Given the description of an element on the screen output the (x, y) to click on. 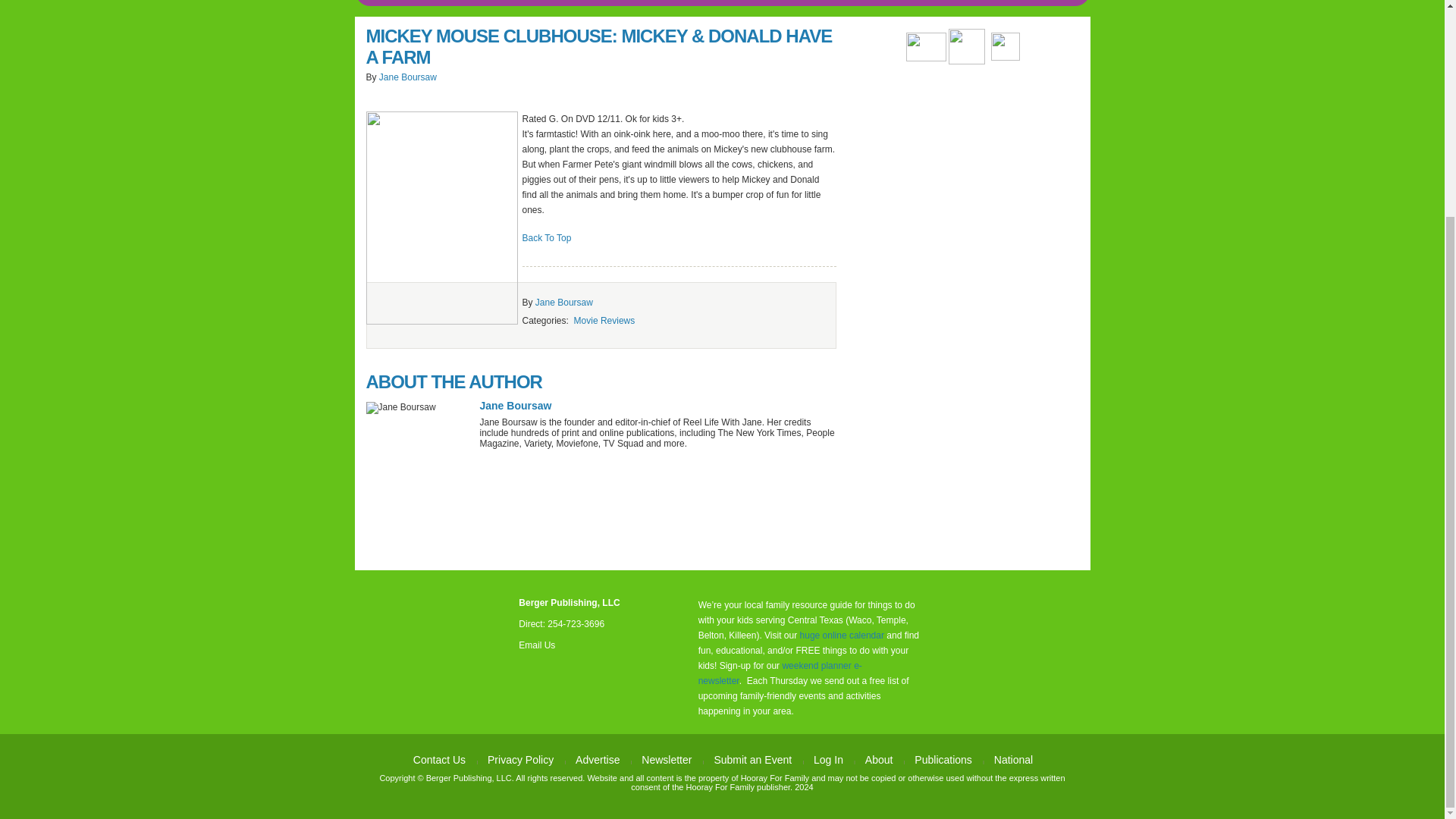
SUBMIT AN EVENT (546, 2)
RECIPES (688, 2)
FIELD TRIPS TX (626, 2)
PICK YOUR AREA (461, 2)
